Given the description of an element on the screen output the (x, y) to click on. 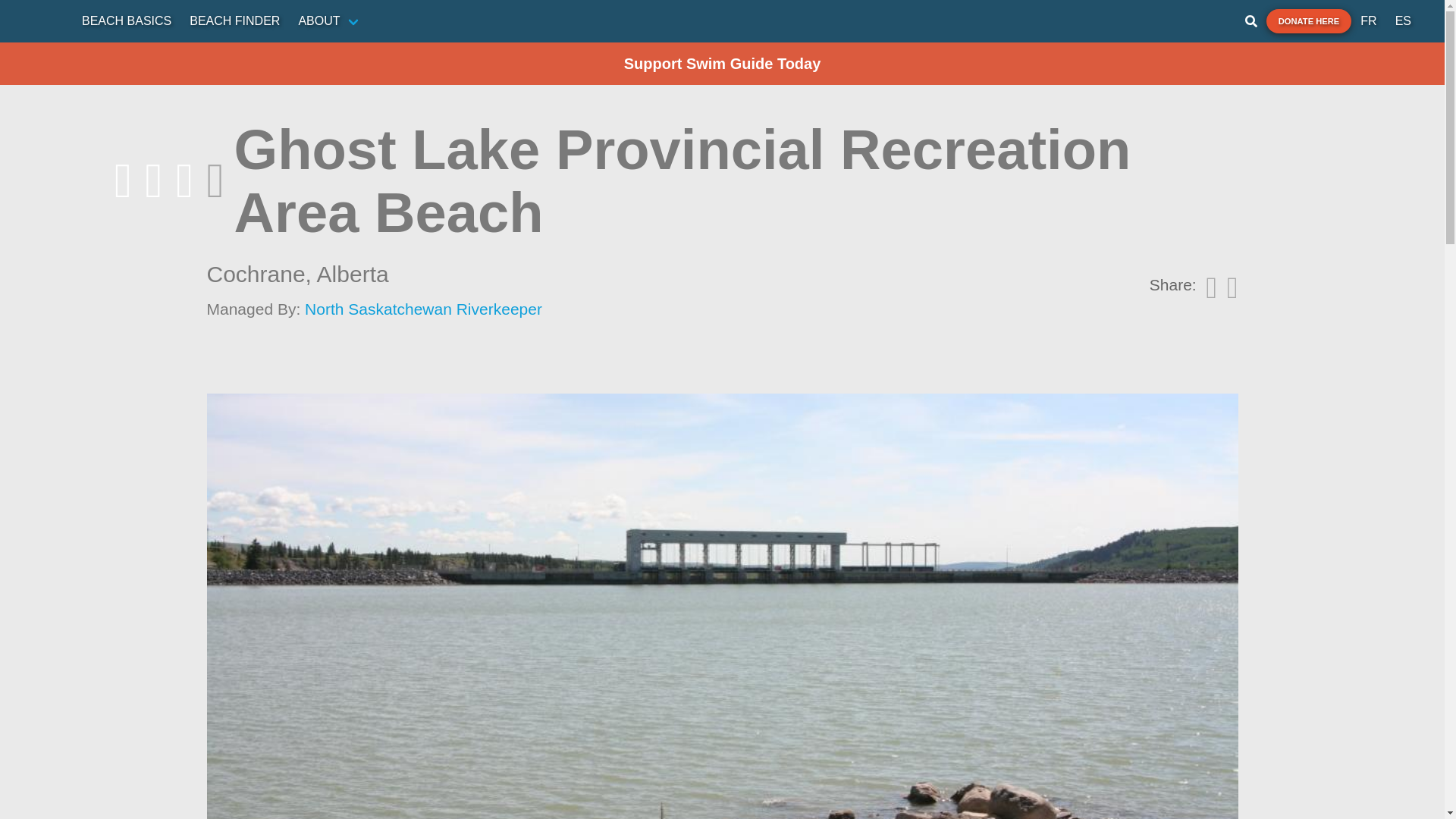
ES (1403, 20)
FR (1368, 20)
no data (252, 180)
ABOUT (328, 20)
Alberta (352, 273)
DONATE HERE (1309, 21)
Support Swim Guide Today (722, 63)
BEACH BASICS (126, 20)
BEACH FINDER (234, 20)
North Saskatchewan Riverkeeper (422, 308)
